Given the description of an element on the screen output the (x, y) to click on. 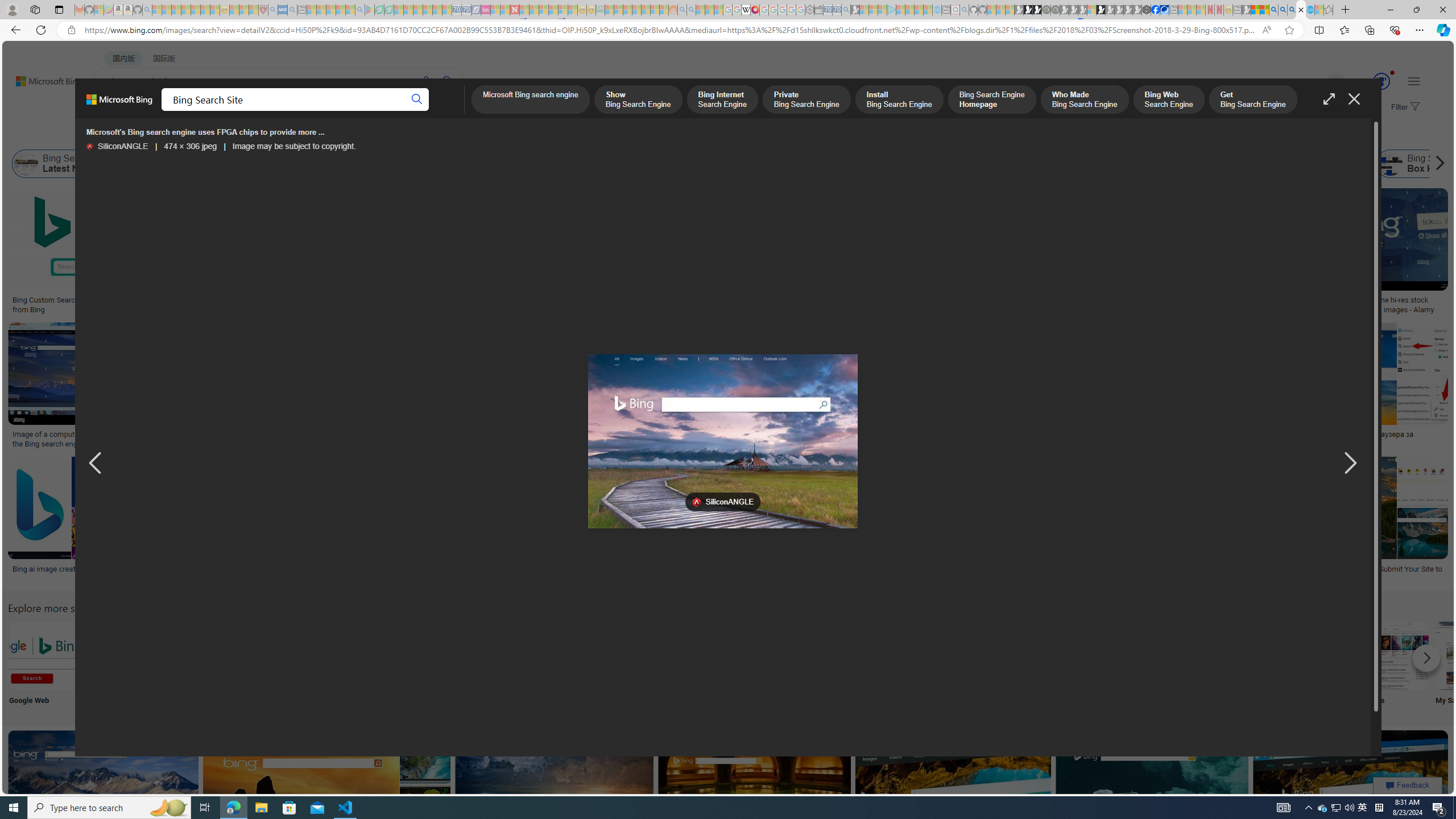
Settings - Sleeping (809, 9)
Bing (366, 568)
MediaWiki (754, 9)
Bing Photo Search Microsoft Edge Microsoft Edge (268, 665)
favicon SiliconANGLE (722, 501)
Bing - SEOLendSave (282, 252)
Kinda Frugal - MSN - Sleeping (645, 9)
Bing Home Search Site (1294, 163)
